Given the description of an element on the screen output the (x, y) to click on. 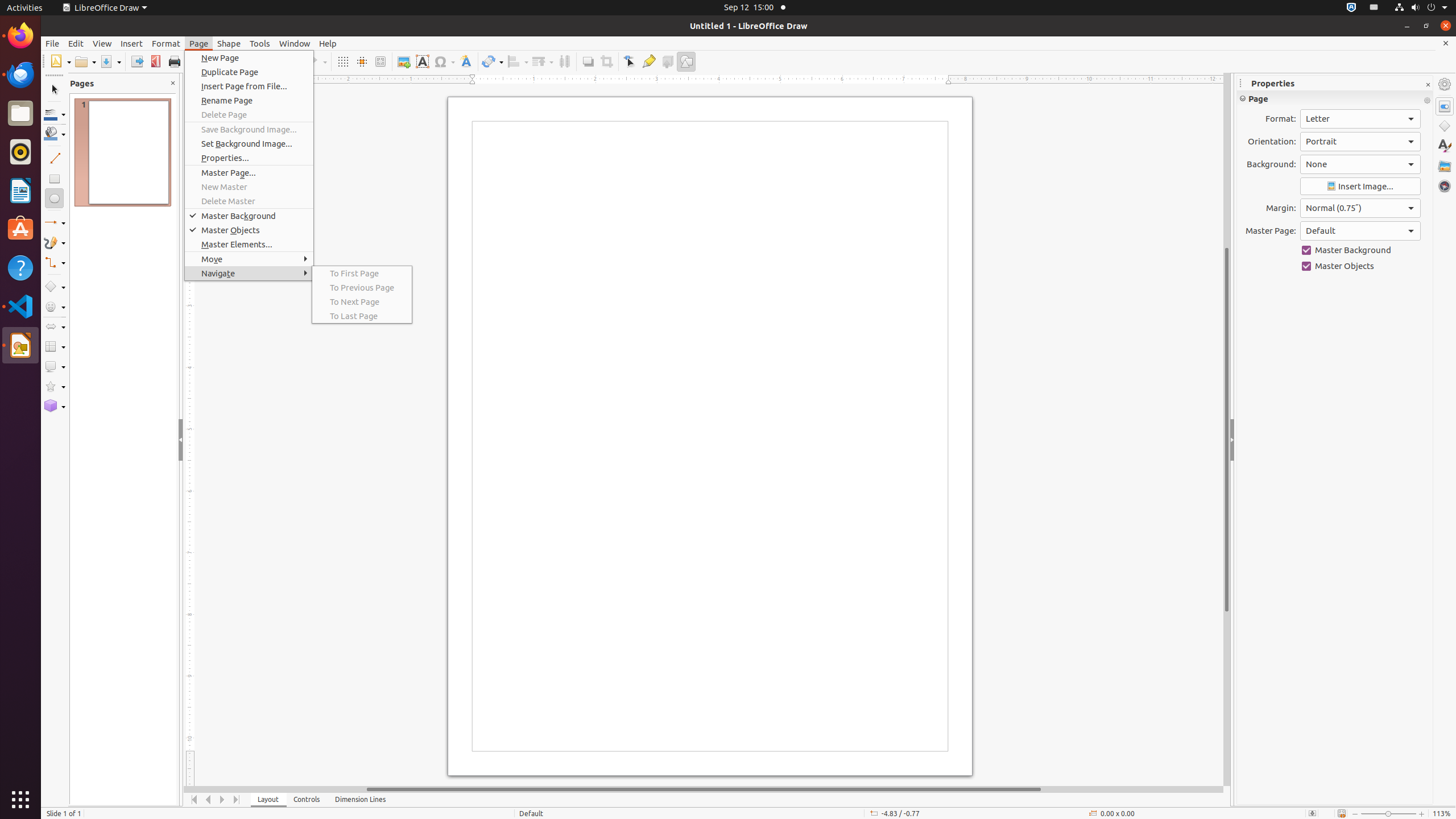
Styles Element type: radio-button (1444, 146)
Fontwork Style Element type: toggle-button (465, 61)
Rename Page Element type: menu-item (248, 100)
Format: Element type: combo-box (1360, 118)
Line Color Element type: push-button (54, 113)
